Given the description of an element on the screen output the (x, y) to click on. 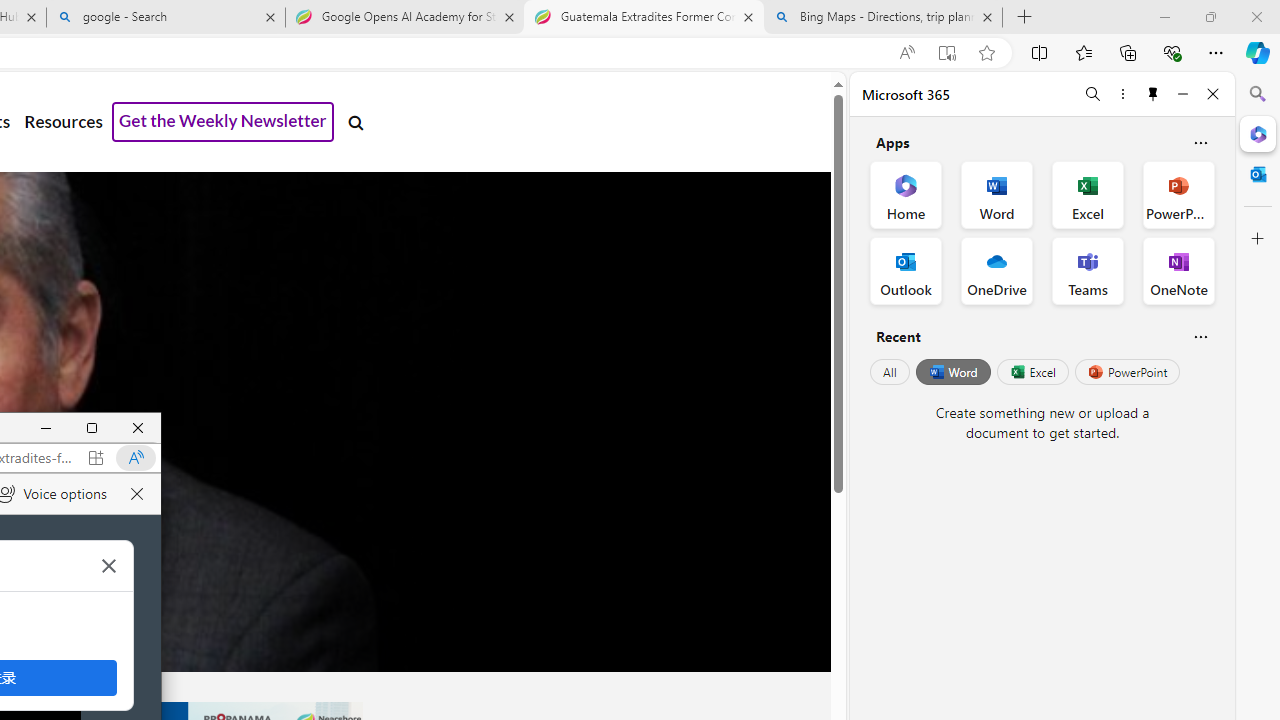
Get the Weekly Newsletter (223, 121)
All (890, 372)
Excel Office App (1087, 194)
PowerPoint Office App (1178, 194)
Google Opens AI Academy for Startups - Nearshore Americas (404, 17)
OneDrive Office App (996, 270)
